Given the description of an element on the screen output the (x, y) to click on. 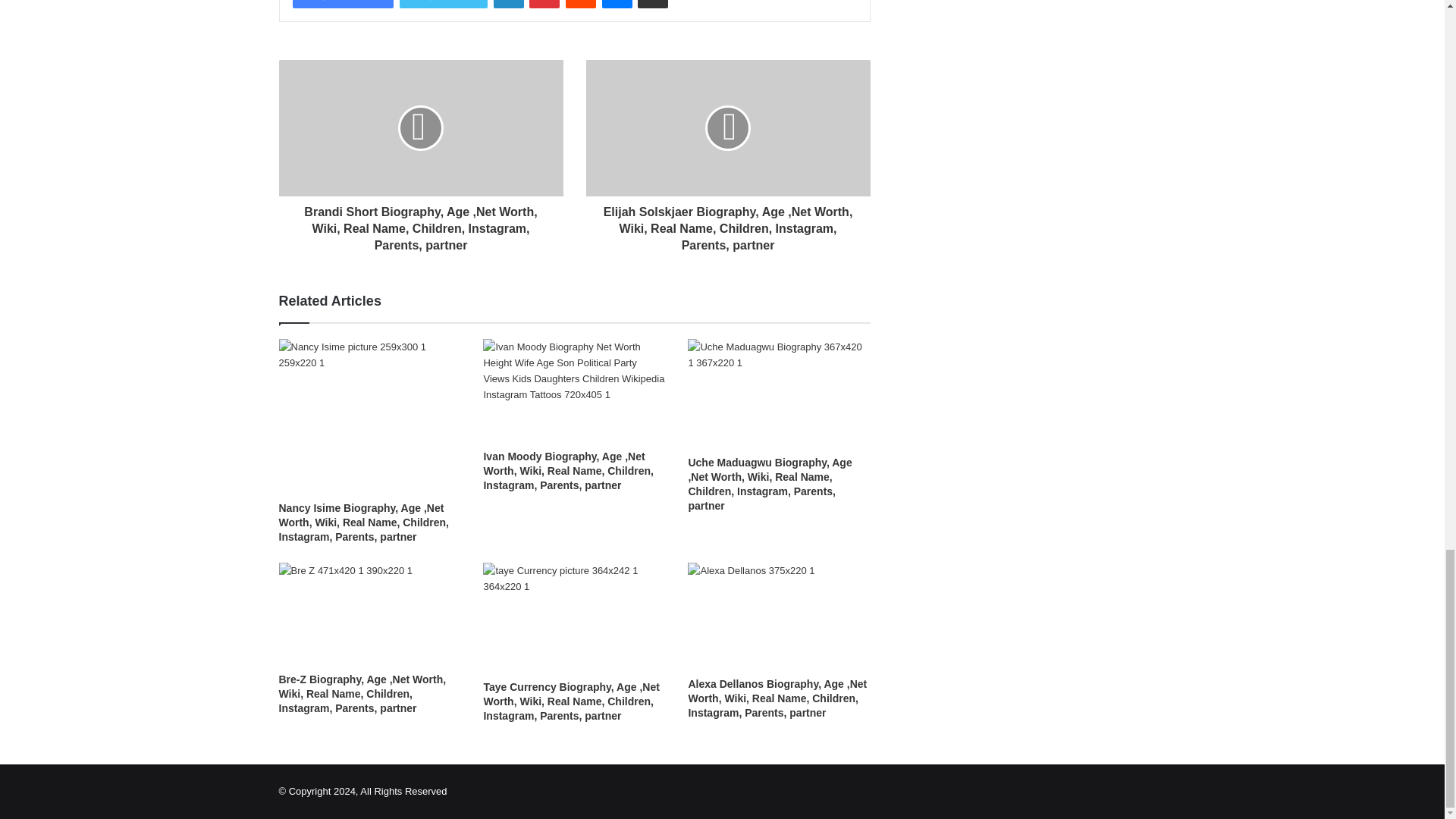
Share via Email (652, 4)
Messenger (616, 4)
LinkedIn (508, 4)
Facebook (343, 4)
Pinterest (544, 4)
Reddit (580, 4)
Twitter (442, 4)
